Given the description of an element on the screen output the (x, y) to click on. 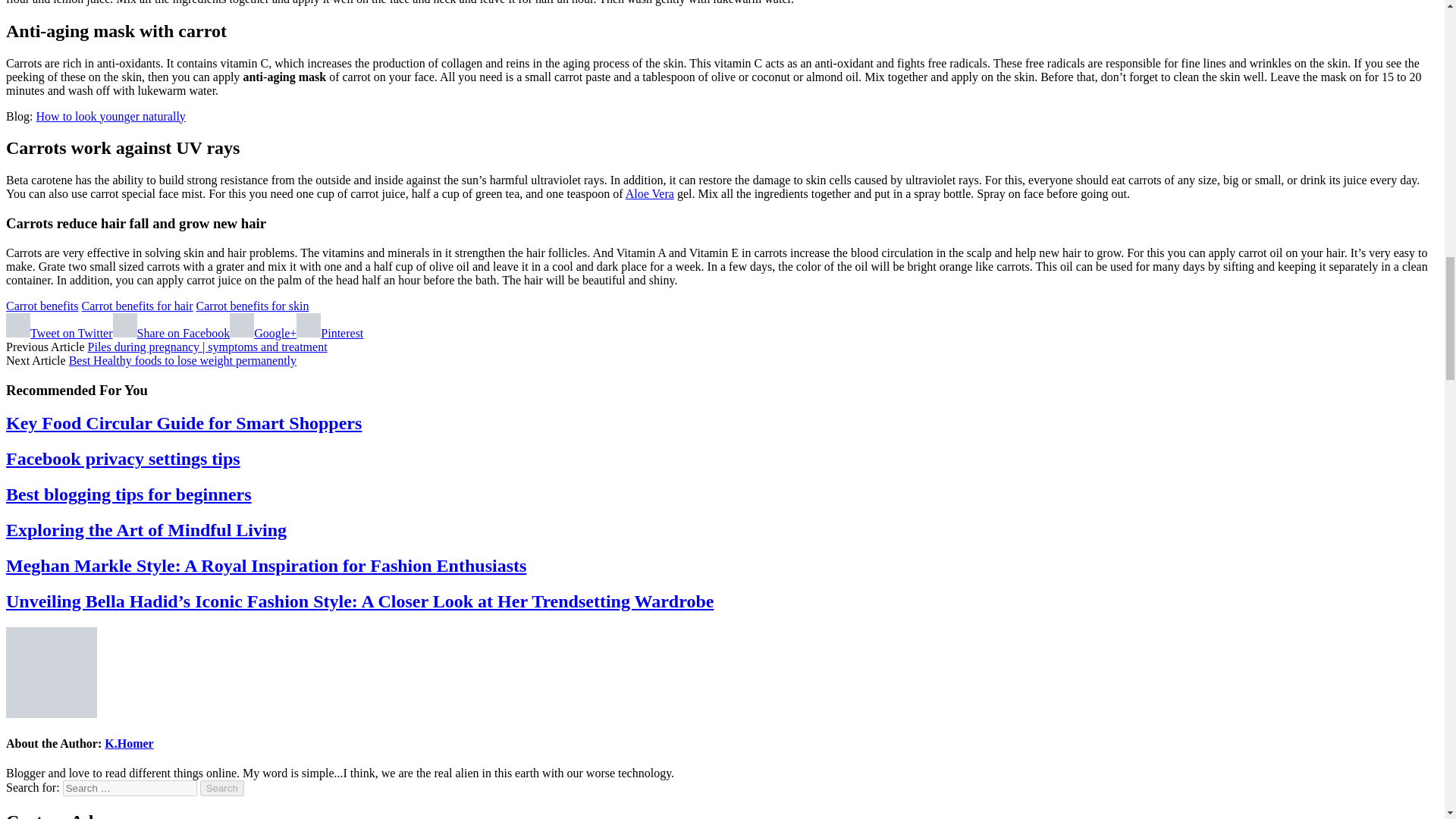
Search (222, 788)
Search (222, 788)
